Given the description of an element on the screen output the (x, y) to click on. 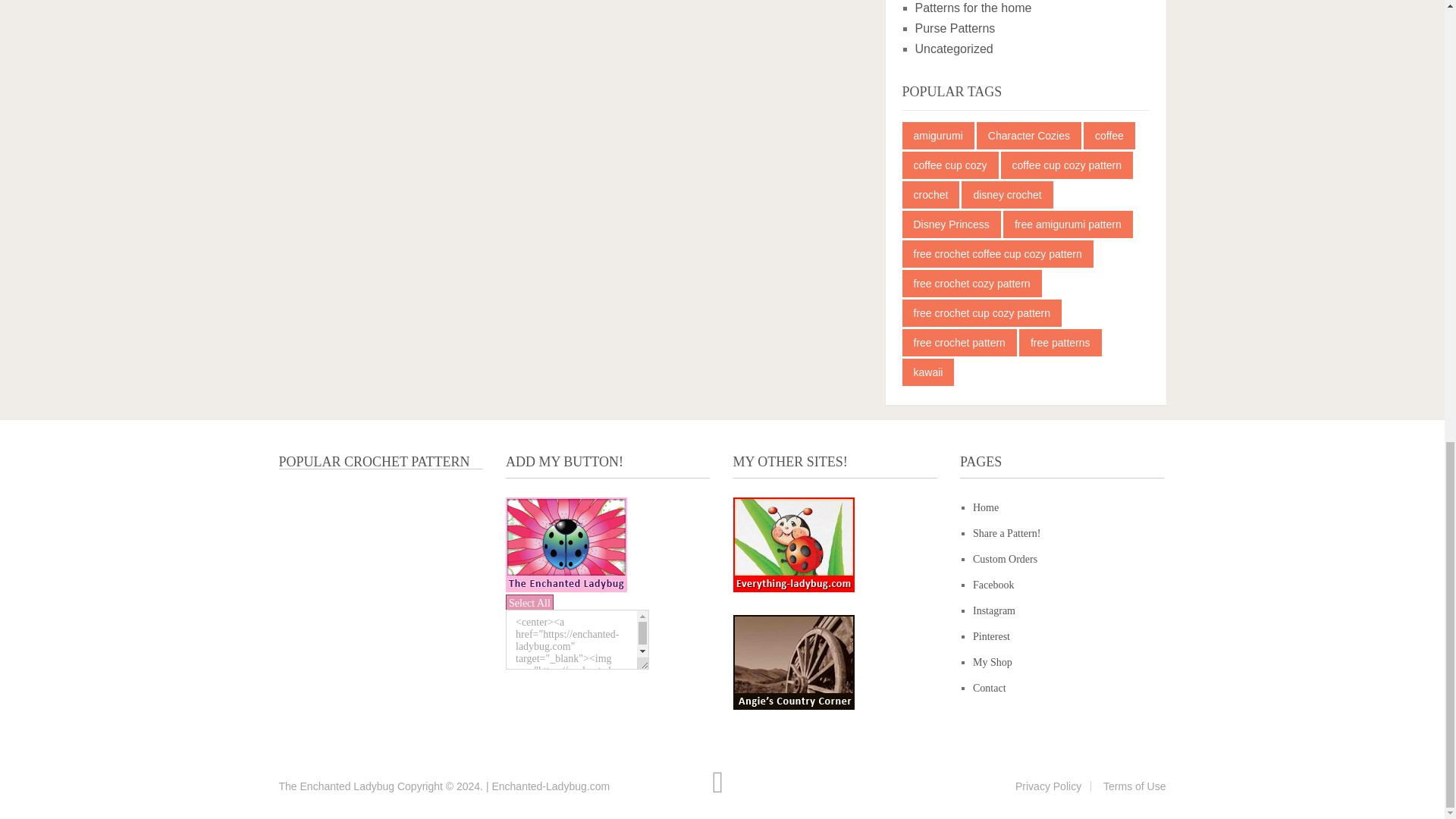
13 topics (950, 165)
13 topics (938, 135)
11 topics (1109, 135)
6 topics (1067, 165)
12 topics (1028, 135)
